Given the description of an element on the screen output the (x, y) to click on. 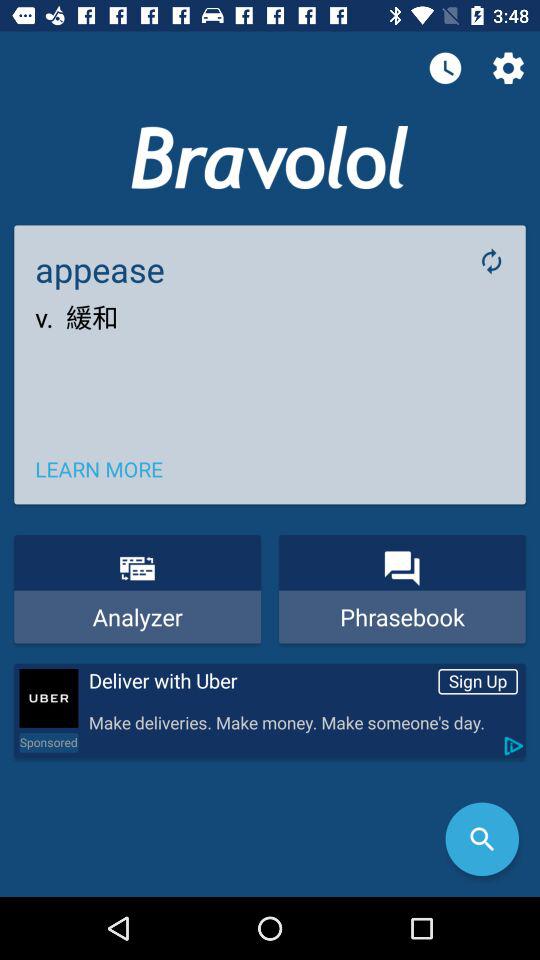
swipe to the deliver with uber (259, 681)
